Given the description of an element on the screen output the (x, y) to click on. 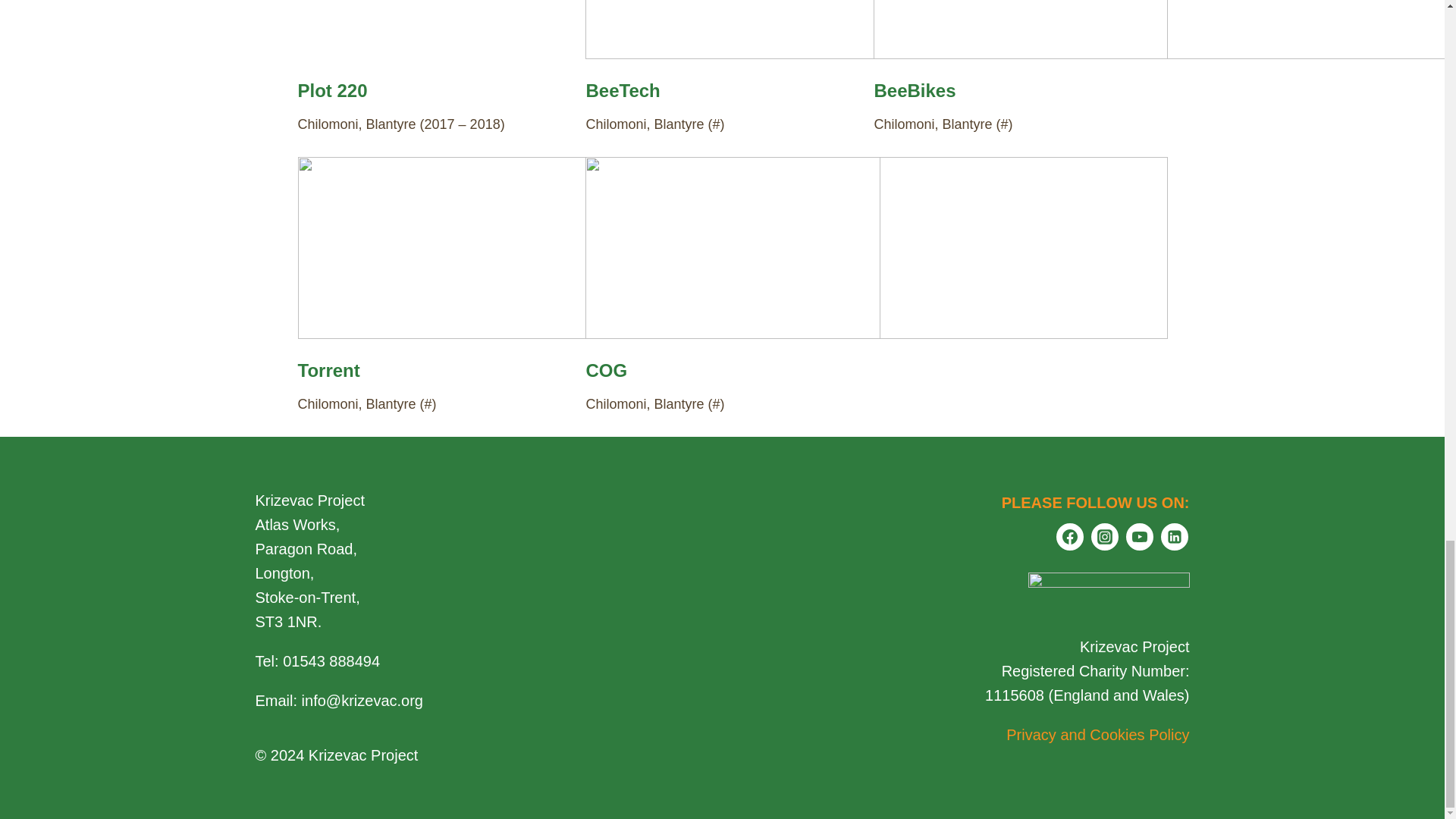
BeeTech (622, 90)
COG (606, 370)
BeeBikes (914, 90)
Torrent (328, 370)
Plot 220 (331, 90)
Privacy and Cookies Policy (1097, 734)
